Given the description of an element on the screen output the (x, y) to click on. 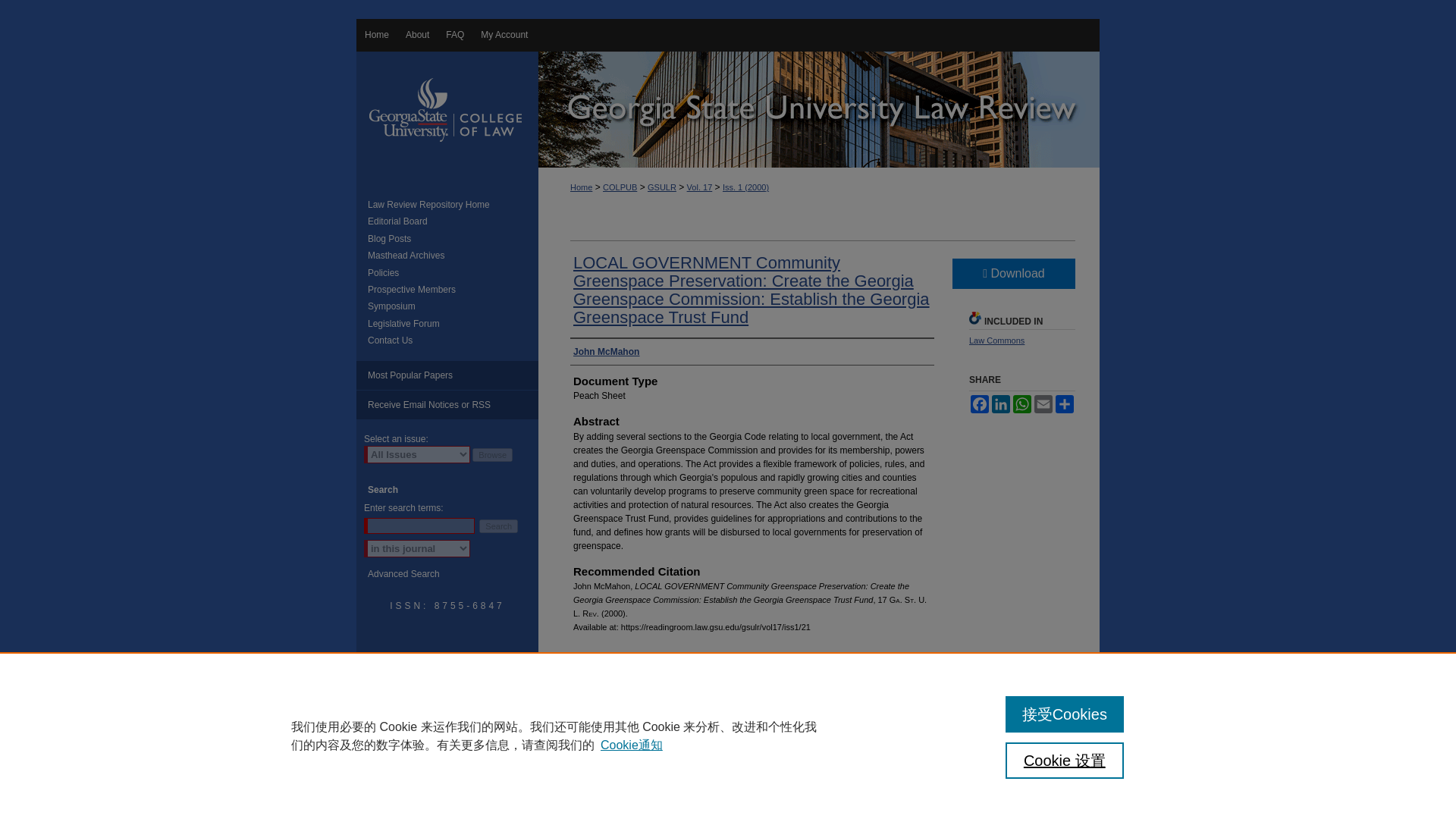
Law Commons (997, 339)
LinkedIn (1000, 403)
Search (498, 526)
Facebook (979, 403)
Contact Us (453, 339)
Blog Posts (453, 238)
Masthead Archives (453, 255)
FAQ (454, 34)
My Account (503, 34)
COLPUB (619, 186)
Download (1013, 273)
Browse (491, 454)
Georgia State University Law Review (818, 109)
Symposium (453, 306)
